Given the description of an element on the screen output the (x, y) to click on. 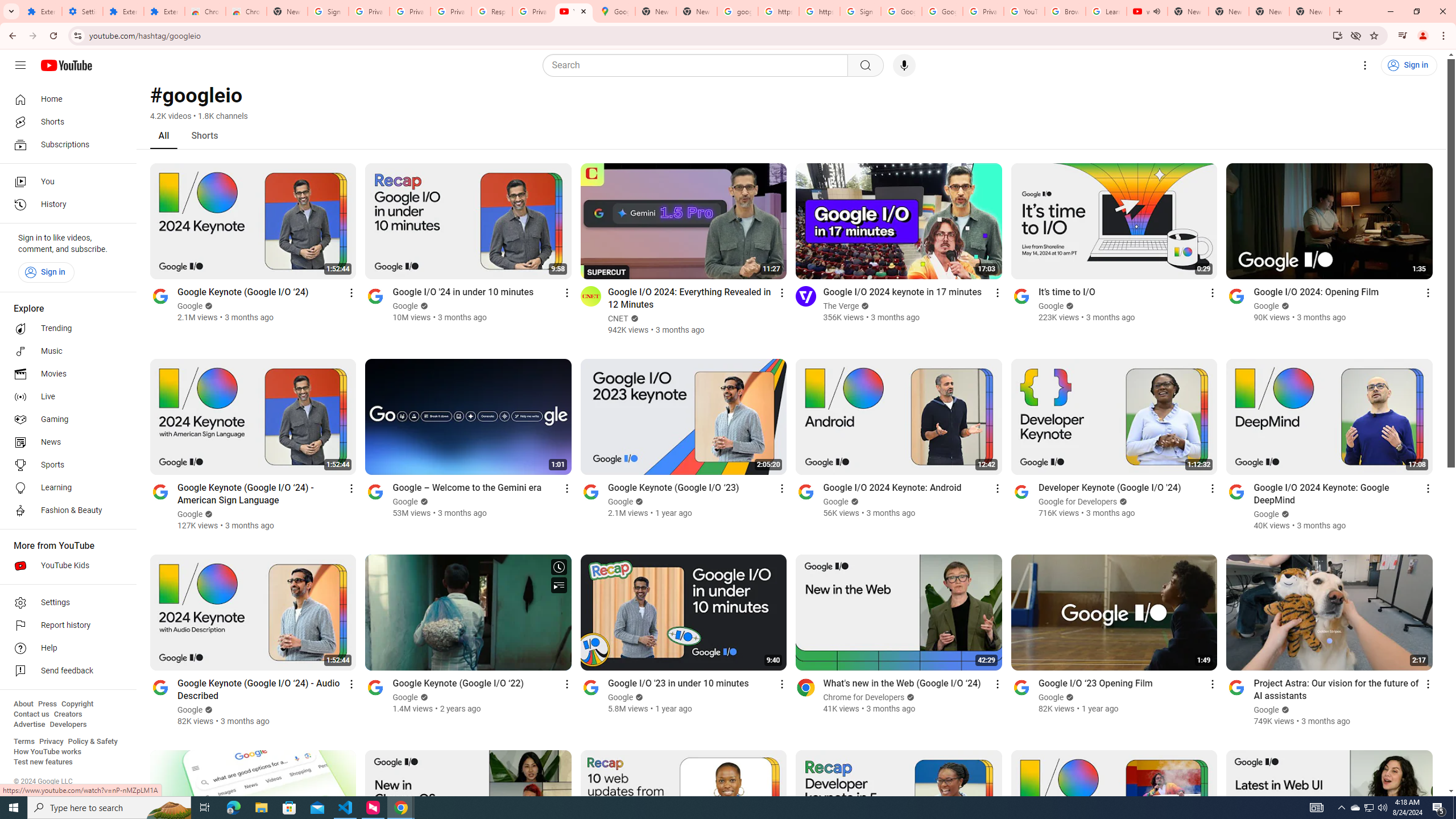
Learning (64, 487)
Google for Developers (1078, 501)
History (64, 204)
Install YouTube (1336, 35)
